Given the description of an element on the screen output the (x, y) to click on. 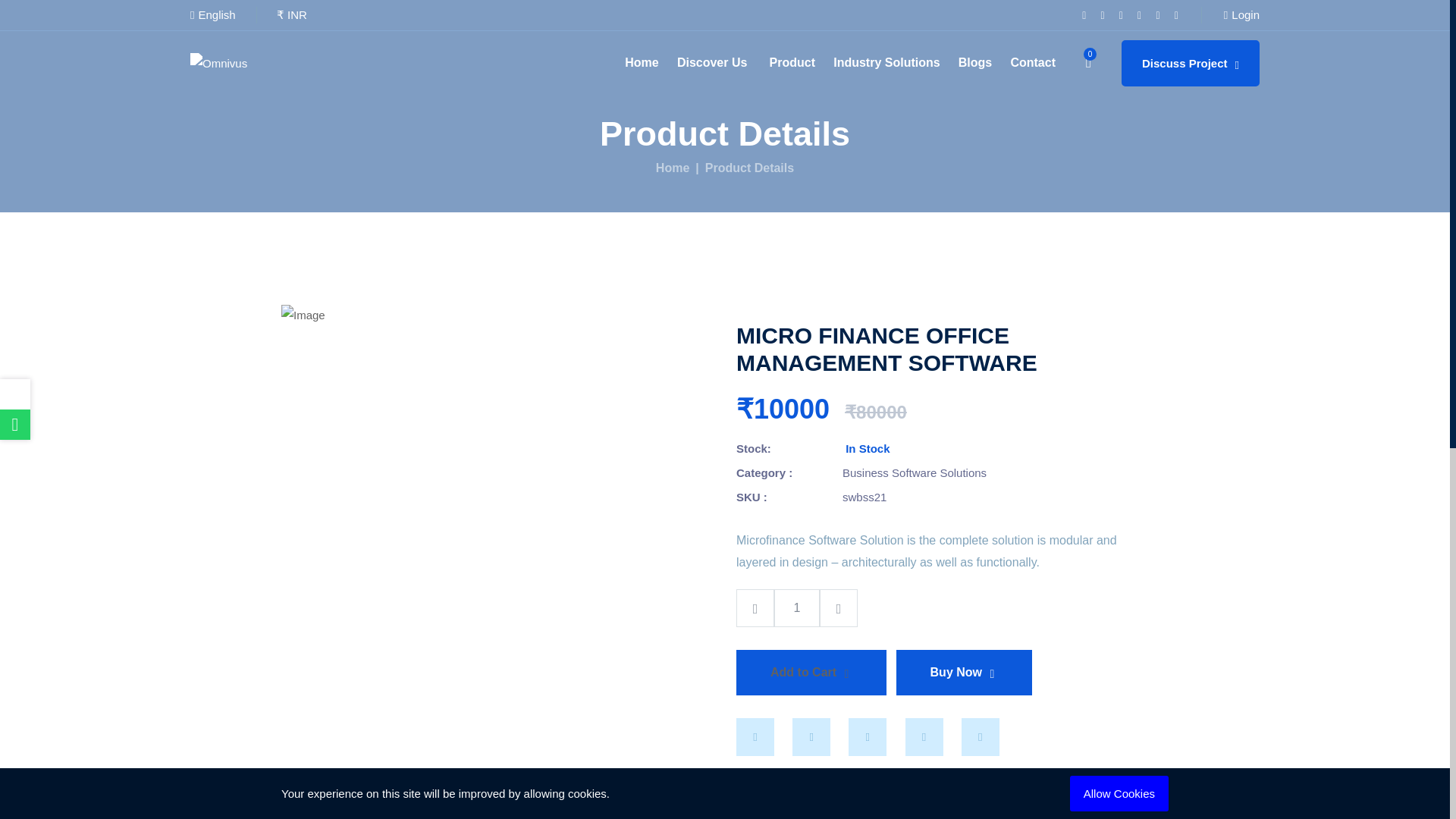
1 (796, 607)
Discover Us (713, 63)
Discuss Project (1190, 62)
Buy Now (964, 672)
Add to Cart (811, 672)
Description (591, 817)
Contact (1032, 63)
Home (672, 168)
Industry Solutions (886, 63)
Login (1241, 15)
